Given the description of an element on the screen output the (x, y) to click on. 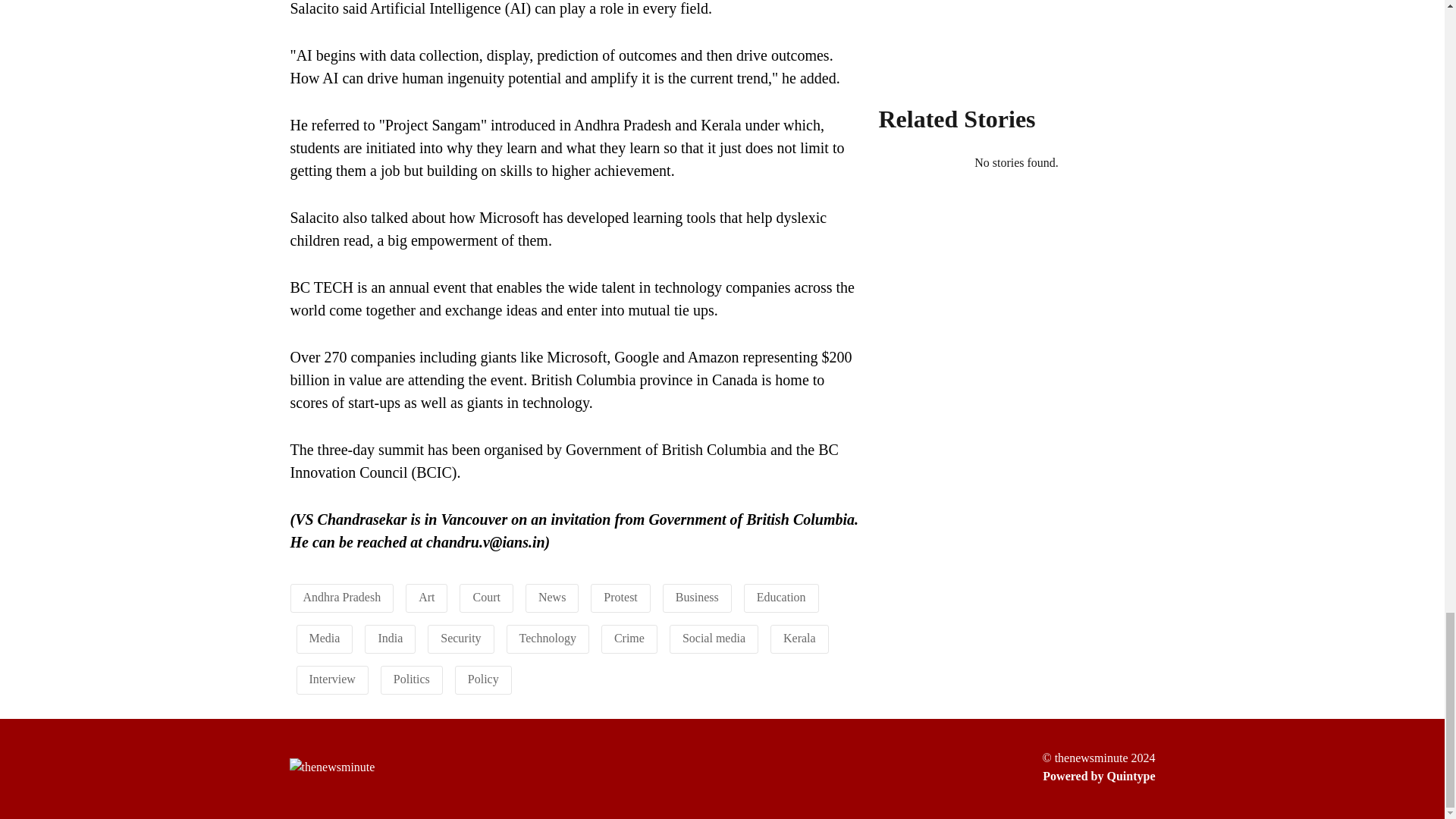
Andhra Pradesh (341, 596)
Technology (547, 637)
Court (485, 596)
Policy (483, 678)
Security (460, 637)
Kerala (799, 637)
India (390, 637)
Social media (713, 637)
Interview (331, 678)
Art (426, 596)
Media (324, 637)
Business (697, 596)
Protest (620, 596)
Powered by Quintype (1098, 776)
News (552, 596)
